Given the description of an element on the screen output the (x, y) to click on. 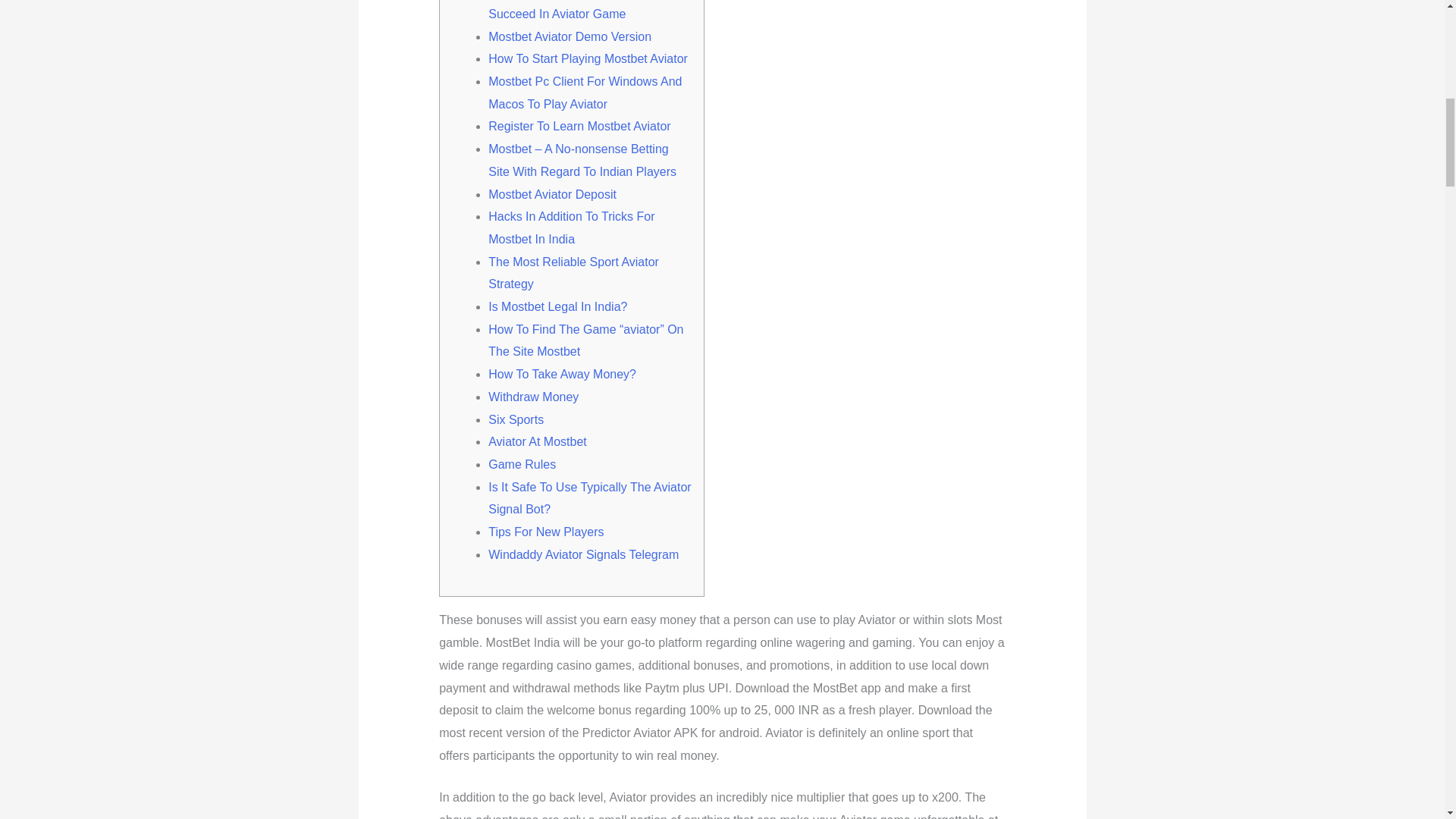
Tips And Techniques How To Succeed In Aviator Game (565, 10)
The Most Reliable Sport Aviator Strategy (573, 273)
Mostbet Aviator Demo Version (568, 36)
Mostbet Pc Client For Windows And Macos To Play Aviator (584, 92)
Register To Learn Mostbet Aviator (578, 125)
How To Take Away Money? (561, 373)
How To Start Playing Mostbet Aviator (587, 58)
Is Mostbet Legal In India? (557, 306)
Mostbet Aviator Deposit (551, 194)
Hacks In Addition To Tricks For Mostbet In India (570, 227)
